Given the description of an element on the screen output the (x, y) to click on. 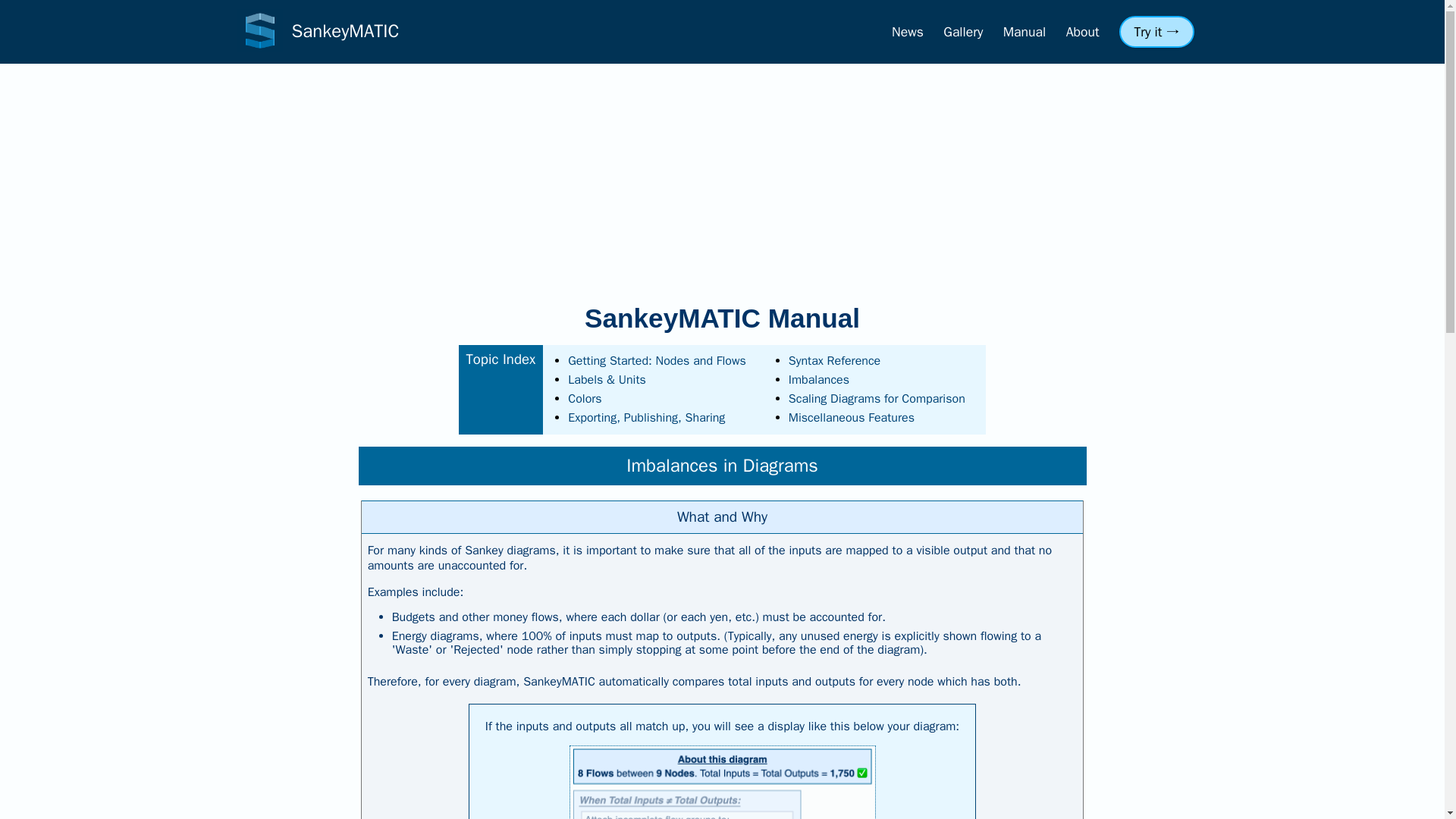
Miscellaneous Features (851, 417)
SankeyMATIC (316, 31)
Build a Sankey Diagram (1156, 31)
News (907, 31)
Syntax Reference (834, 360)
Getting Started: Nodes and Flows (656, 360)
Manual (1024, 31)
Imbalances (818, 379)
Gallery (962, 31)
SankeyMATIC home page (316, 31)
What's New with SankeyMATIC (907, 31)
Exporting, Publishing, Sharing (646, 417)
About (1082, 31)
Scaling Diagrams for Comparison (877, 398)
